Given the description of an element on the screen output the (x, y) to click on. 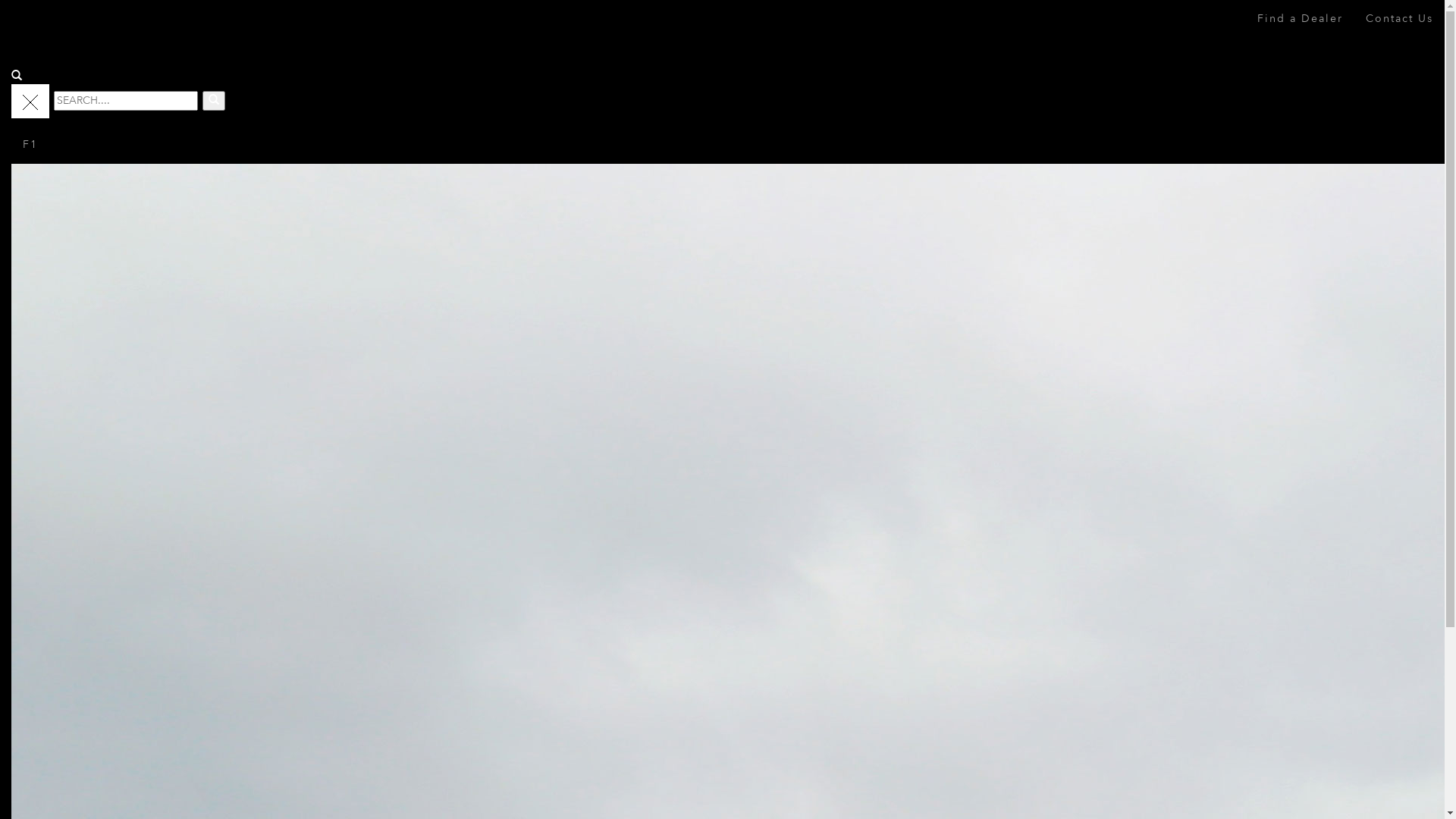
Upcoming Shows Element type: text (322, 642)
Dream Element type: text (295, 677)
Contact Us Element type: text (307, 712)
Dream Seeker Element type: text (71, 34)
Family Element type: text (294, 537)
Range Element type: text (294, 450)
Slide-Out Element type: text (302, 520)
Find a Dealer Element type: text (1299, 18)
Find a Dealer Element type: text (313, 572)
On-Road Element type: text (301, 502)
Semi Off-Road Element type: text (316, 485)
Australian Made Element type: text (319, 694)
Warranty and Assistance Element type: text (341, 607)
Service and Maintenance Element type: text (341, 590)
Ownership Element type: text (305, 555)
Contact Us Element type: text (1399, 18)
Latest News Element type: text (309, 659)
Off-road Element type: text (301, 467)
